Given the description of an element on the screen output the (x, y) to click on. 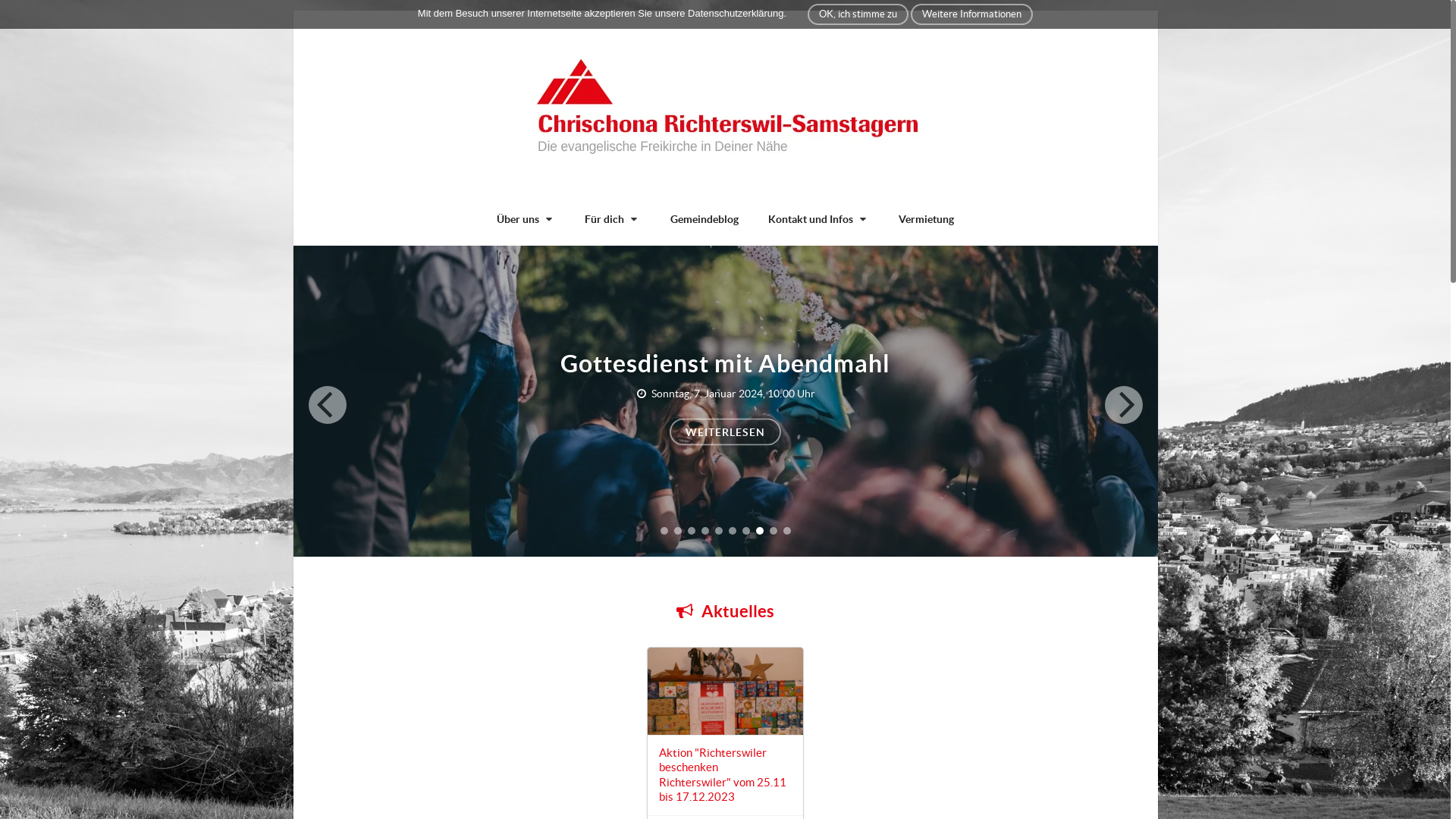
Previous Element type: text (326, 404)
Next Element type: text (1123, 404)
Weitere Informationen Element type: text (971, 14)
Gemeindeblog Element type: text (704, 218)
8 Element type: text (758, 530)
1 Element type: text (663, 530)
Kontakt und Infos Element type: text (818, 218)
4 Element type: text (704, 530)
6 Element type: text (731, 530)
Startseite Element type: hover (724, 107)
Vermietung Element type: text (925, 218)
5 Element type: text (717, 530)
WEITERLESEN Element type: text (725, 431)
10 Element type: text (786, 530)
3 Element type: text (690, 530)
2 Element type: text (676, 530)
7 Element type: text (745, 530)
Direkt zum Inhalt Element type: text (40, 7)
OK, ich stimme zu Element type: text (857, 14)
Gottesdienst Element type: hover (724, 400)
9 Element type: text (772, 530)
